Given the description of an element on the screen output the (x, y) to click on. 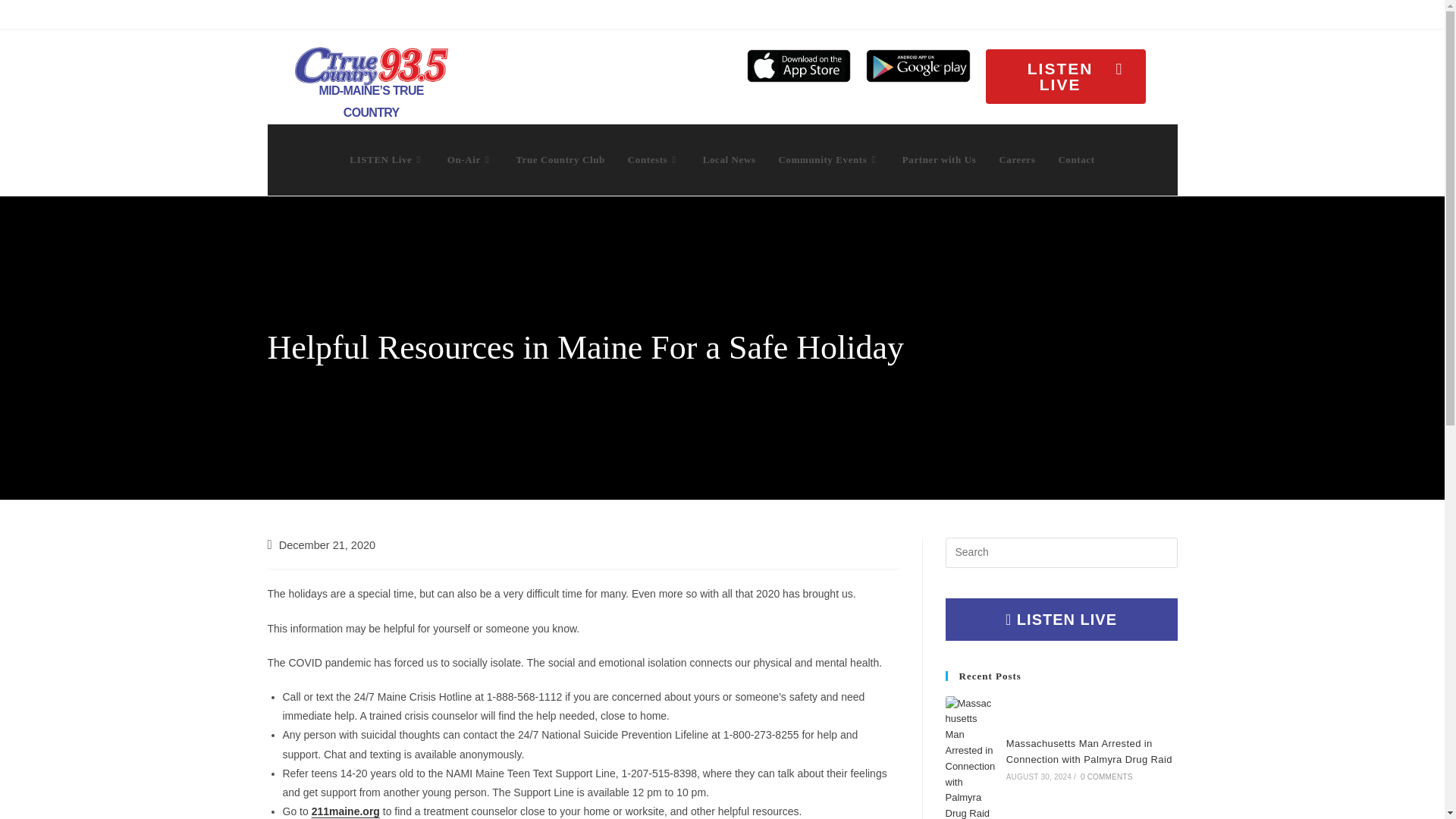
Local News (729, 159)
Contact (1075, 159)
True Country Club (559, 159)
Contests (653, 159)
LISTEN LIVE (1065, 76)
LISTEN Live (386, 159)
Community Events (829, 159)
Partner with Us (939, 159)
Careers (1016, 159)
FACEBOOK (1334, 13)
